Given the description of an element on the screen output the (x, y) to click on. 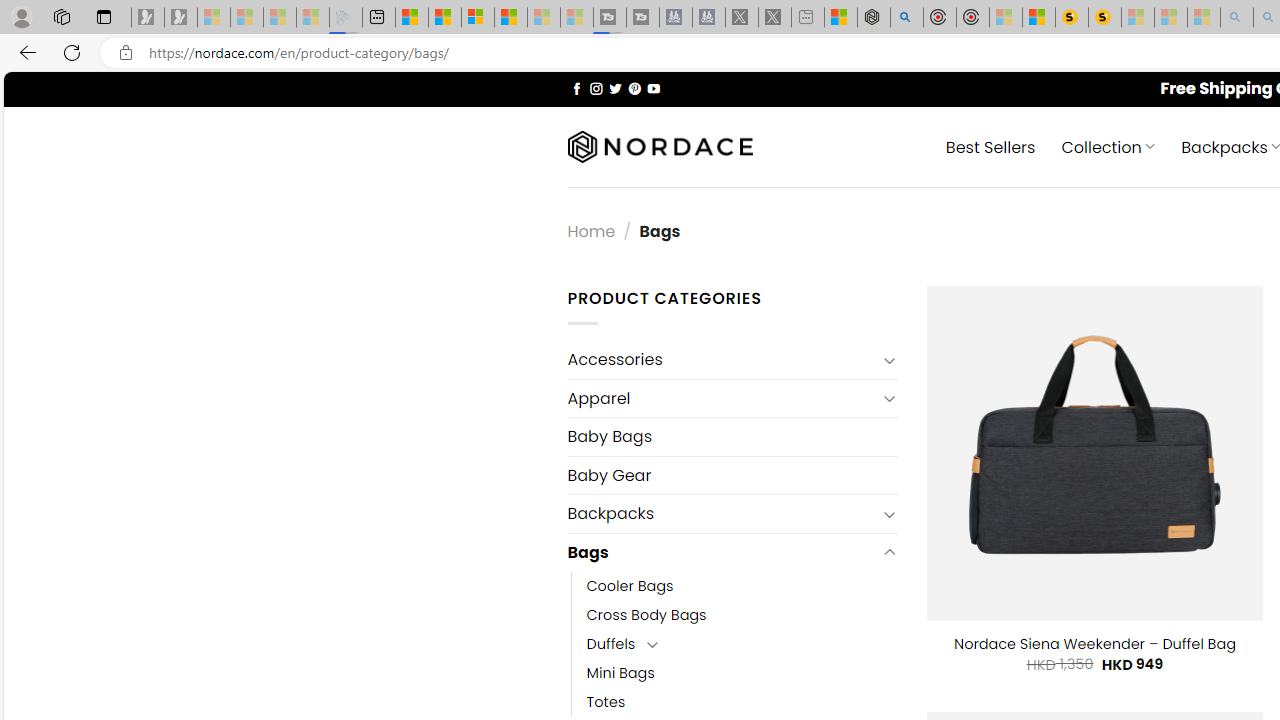
  Best Sellers (989, 146)
Mini Bags (742, 673)
Follow on Twitter (615, 88)
Bags (721, 552)
Baby Gear (732, 475)
Follow on Instagram (596, 88)
Apparel (721, 398)
